Given the description of an element on the screen output the (x, y) to click on. 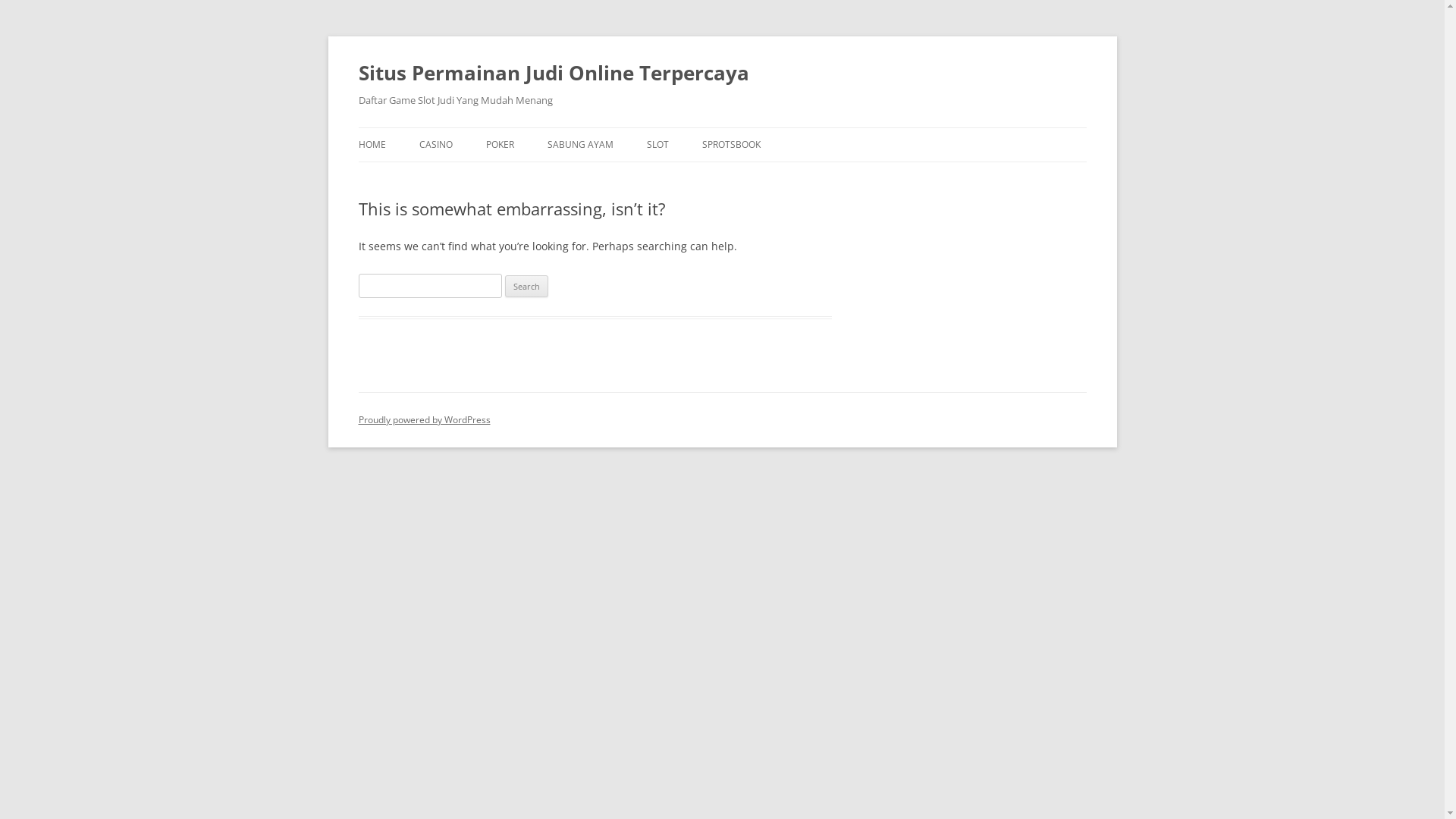
SLOT Element type: text (657, 144)
HOME Element type: text (371, 144)
Skip to content Element type: text (721, 127)
Situs Permainan Judi Online Terpercaya Element type: text (552, 72)
SABUNG AYAM Element type: text (580, 144)
SPROTSBOOK Element type: text (731, 144)
Proudly powered by WordPress Element type: text (423, 419)
Search Element type: text (526, 286)
CASINO Element type: text (434, 144)
POKER Element type: text (499, 144)
